Given the description of an element on the screen output the (x, y) to click on. 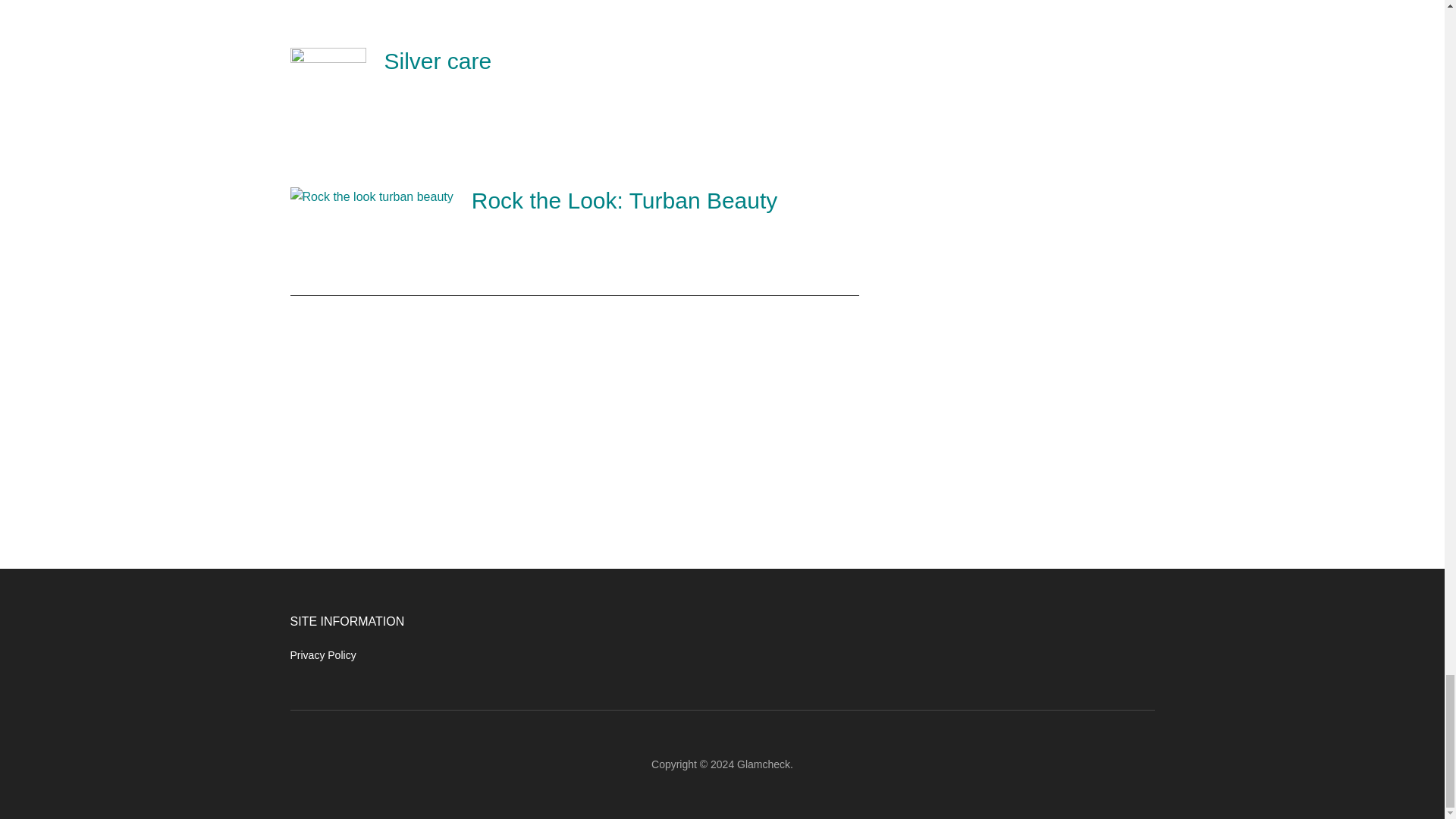
Silver care (438, 60)
Rock the Look: Turban Beauty (624, 200)
